Given the description of an element on the screen output the (x, y) to click on. 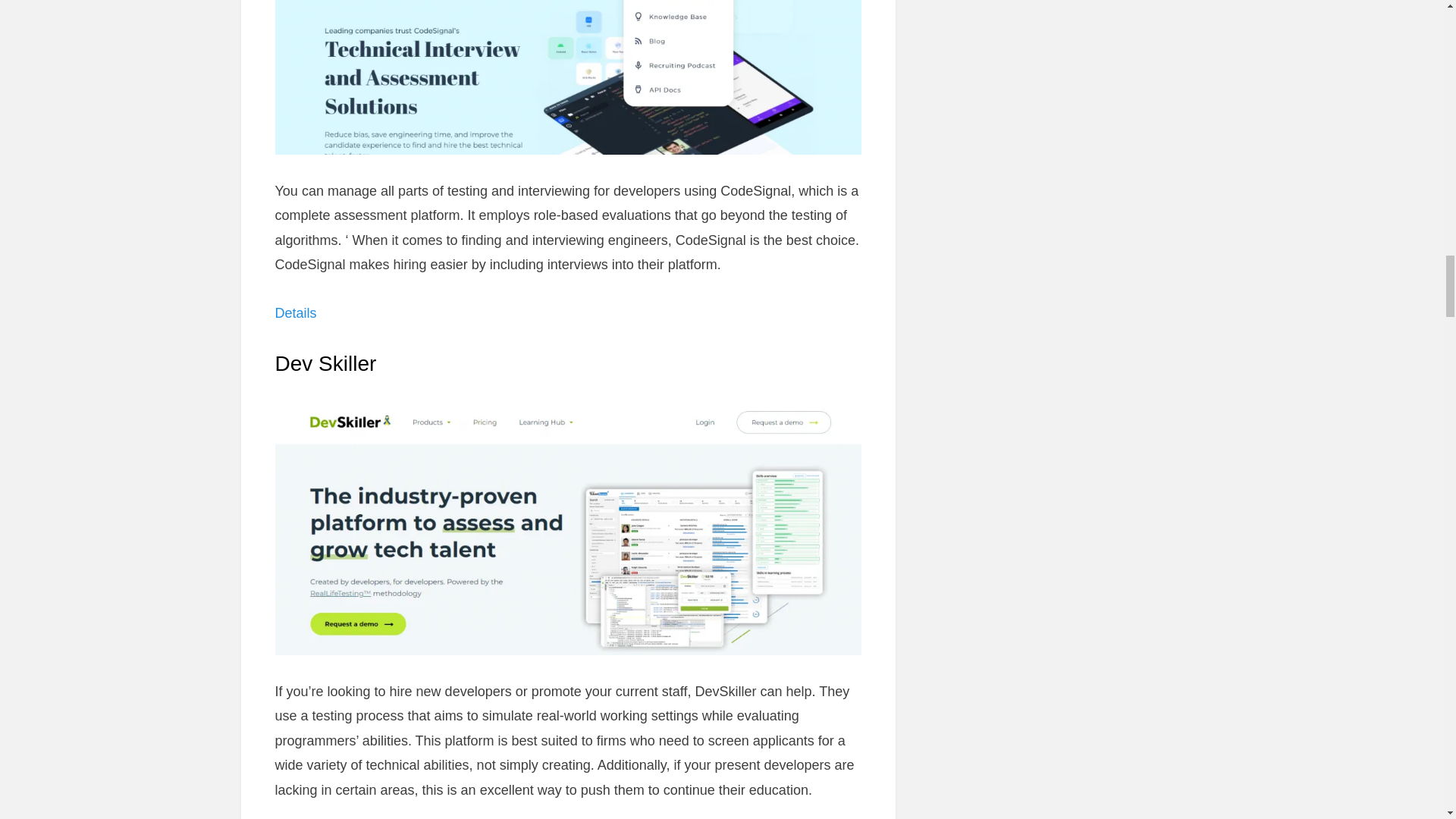
Details (295, 313)
